Given the description of an element on the screen output the (x, y) to click on. 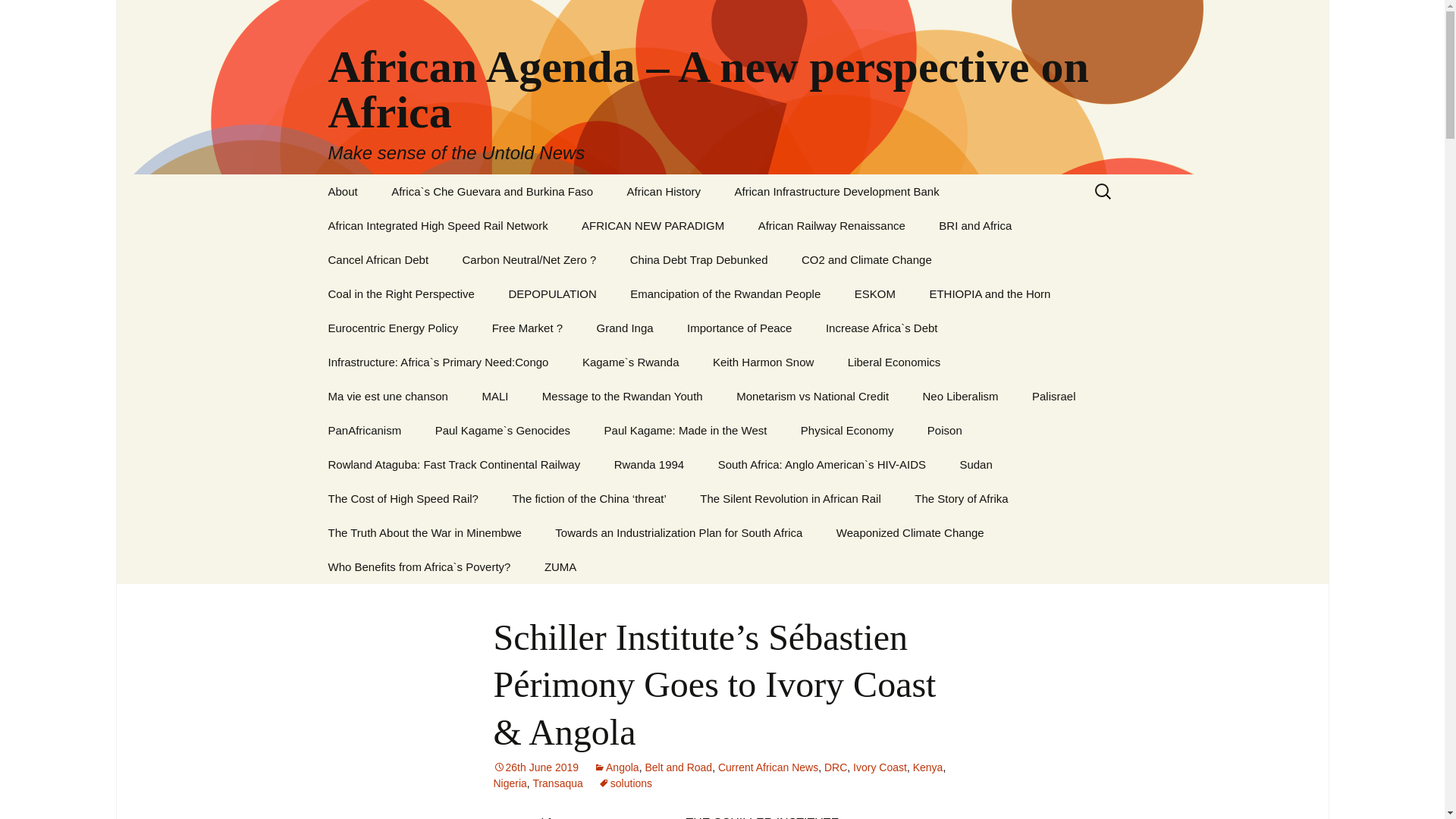
ETHIOPIA and the Horn (989, 293)
Poison (944, 430)
Liberal Economics (894, 361)
Emancipation of the Rwandan People (724, 293)
CO2 and Climate Change (866, 259)
African Integrated High Speed Rail Network (437, 225)
Coal in the Right Perspective (401, 293)
MALI (493, 396)
Ma vie est une chanson (388, 396)
Palisrael (1053, 396)
BRI and Africa (974, 225)
Importance of Peace (738, 327)
DEPOPULATION (552, 293)
Message to the Rwandan Youth (622, 396)
